Given the description of an element on the screen output the (x, y) to click on. 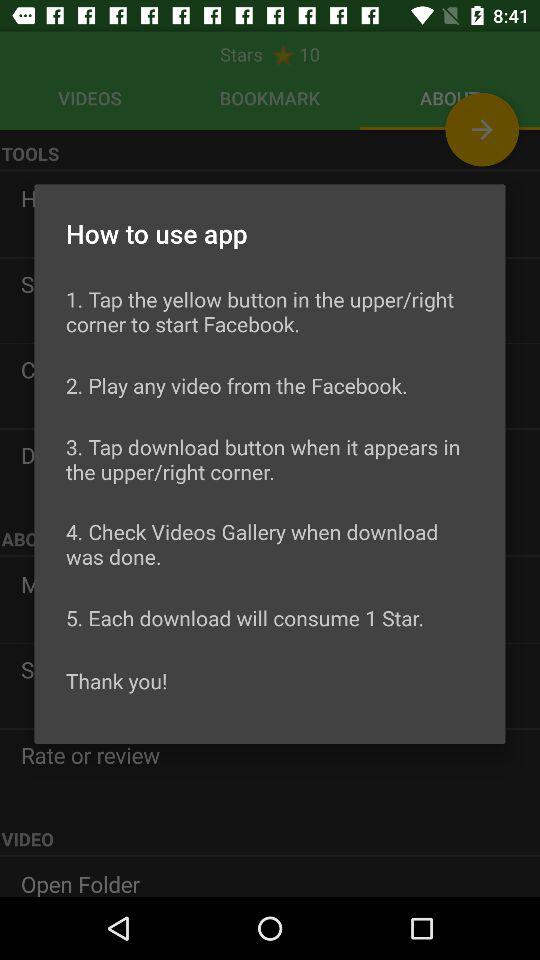
select the item above 5 each download item (269, 543)
